Given the description of an element on the screen output the (x, y) to click on. 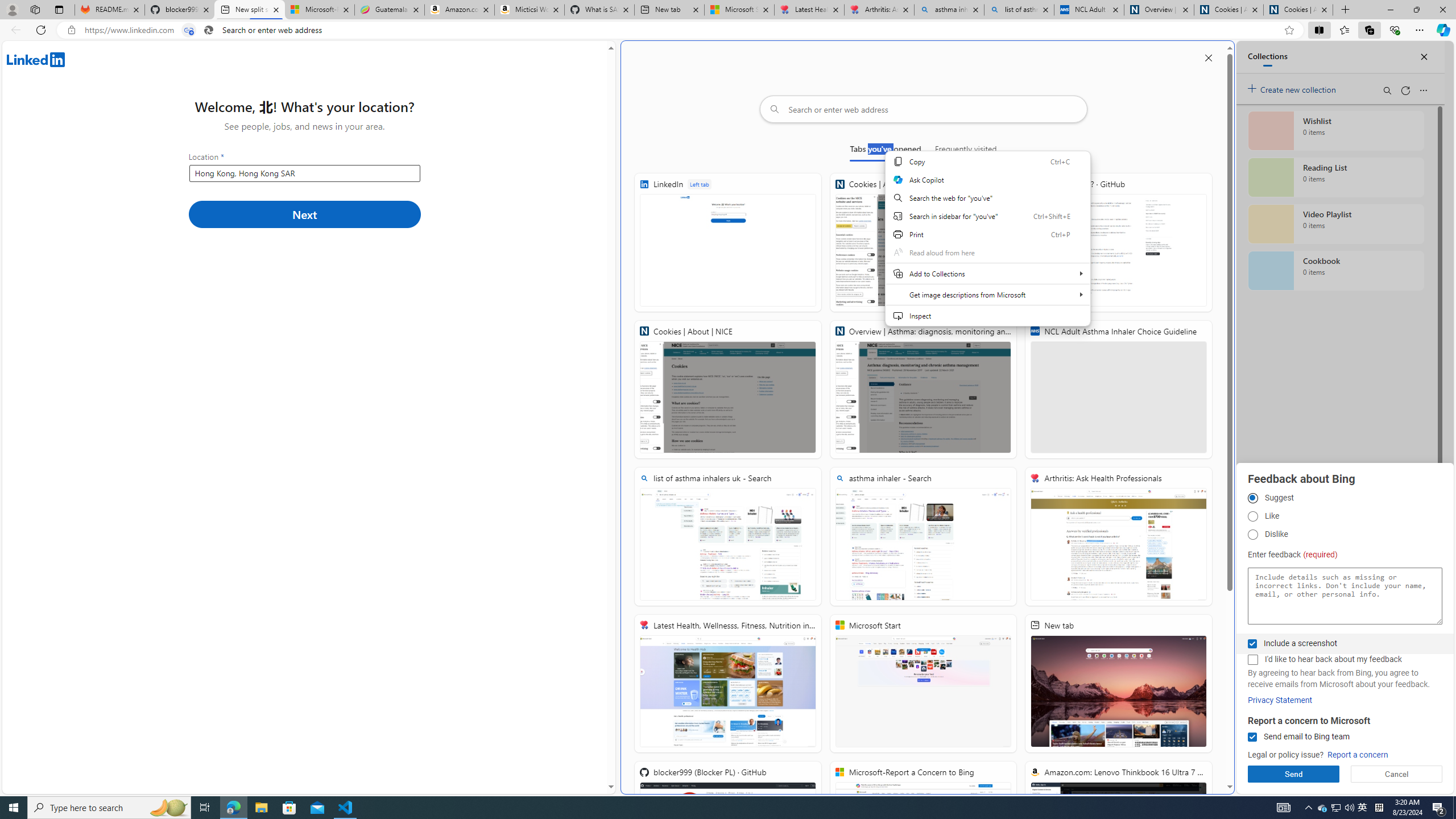
Report a concern (1358, 755)
Include a screenshot (1251, 643)
New split screen (249, 9)
Send email to Bing team (1251, 737)
Cookies | About | NICE (727, 389)
Web context (987, 244)
